Given the description of an element on the screen output the (x, y) to click on. 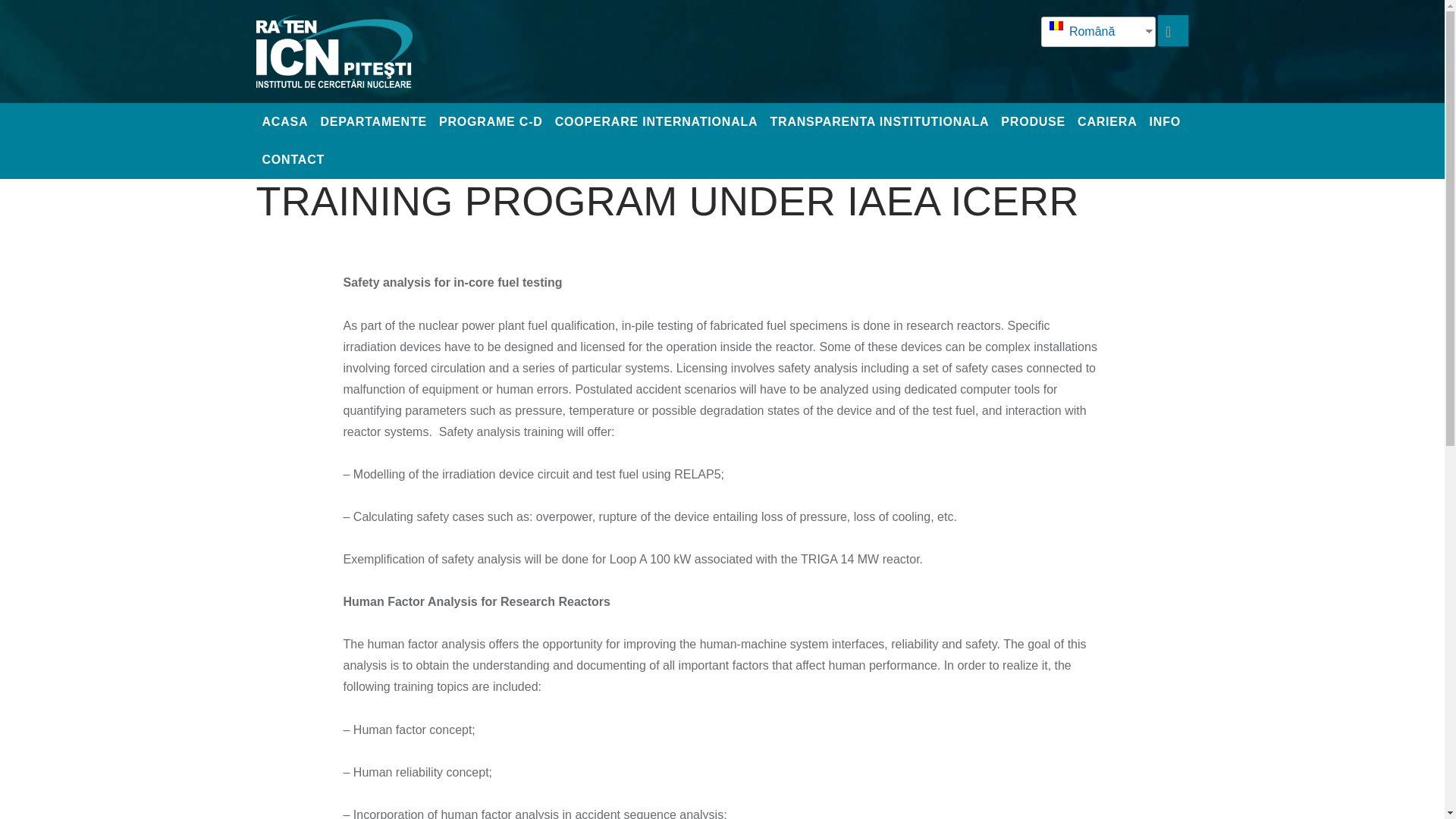
CARIERA (1106, 121)
CONTACT (293, 159)
DEPARTAMENTE (373, 121)
INFO (1164, 121)
ACASA (285, 121)
PRODUSE (1032, 121)
COOPERARE INTERNATIONALA (656, 121)
TRANSPARENTA INSTITUTIONALA (878, 121)
PROGRAME C-D (490, 121)
